Given the description of an element on the screen output the (x, y) to click on. 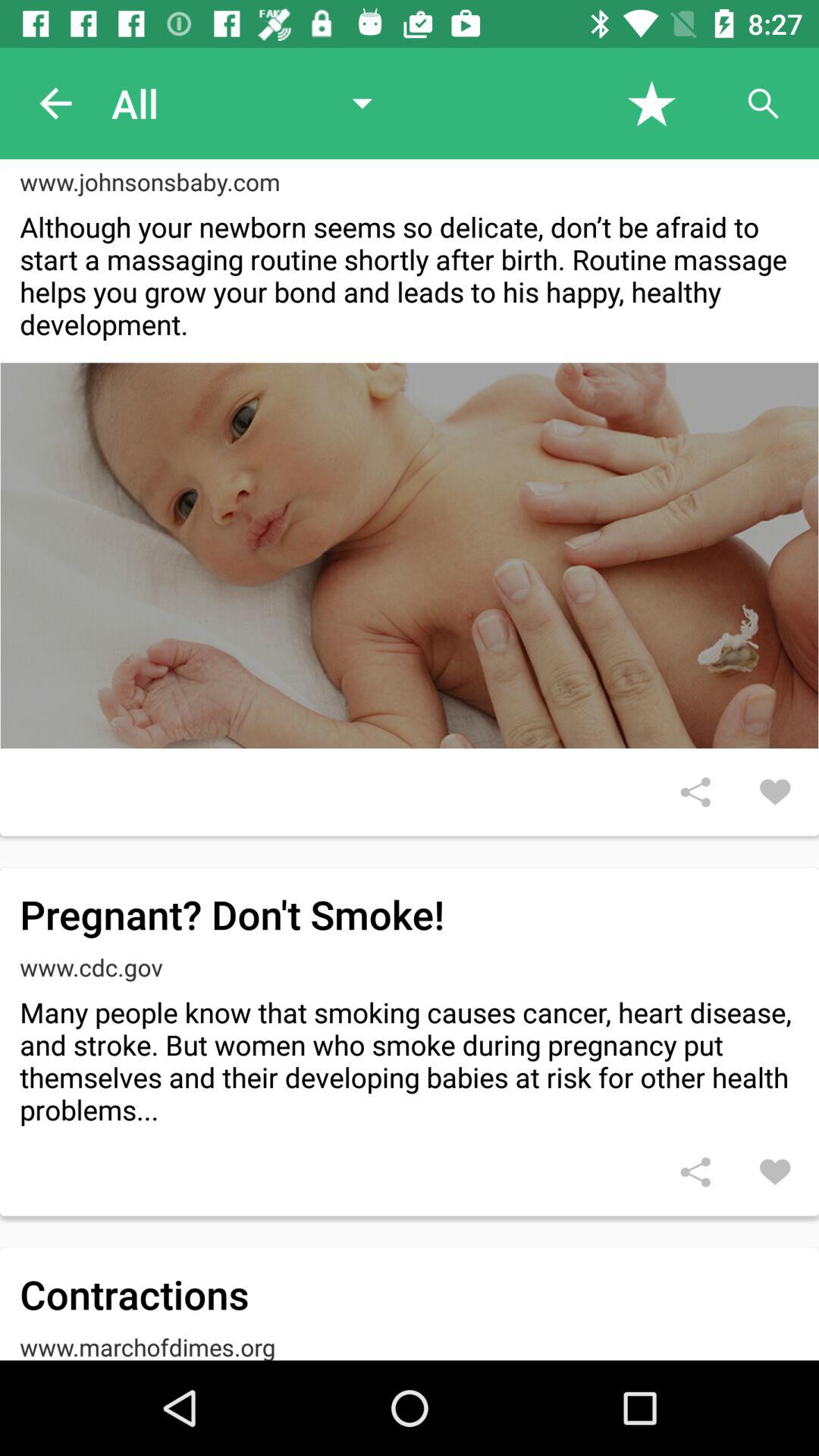
share article (695, 792)
